Given the description of an element on the screen output the (x, y) to click on. 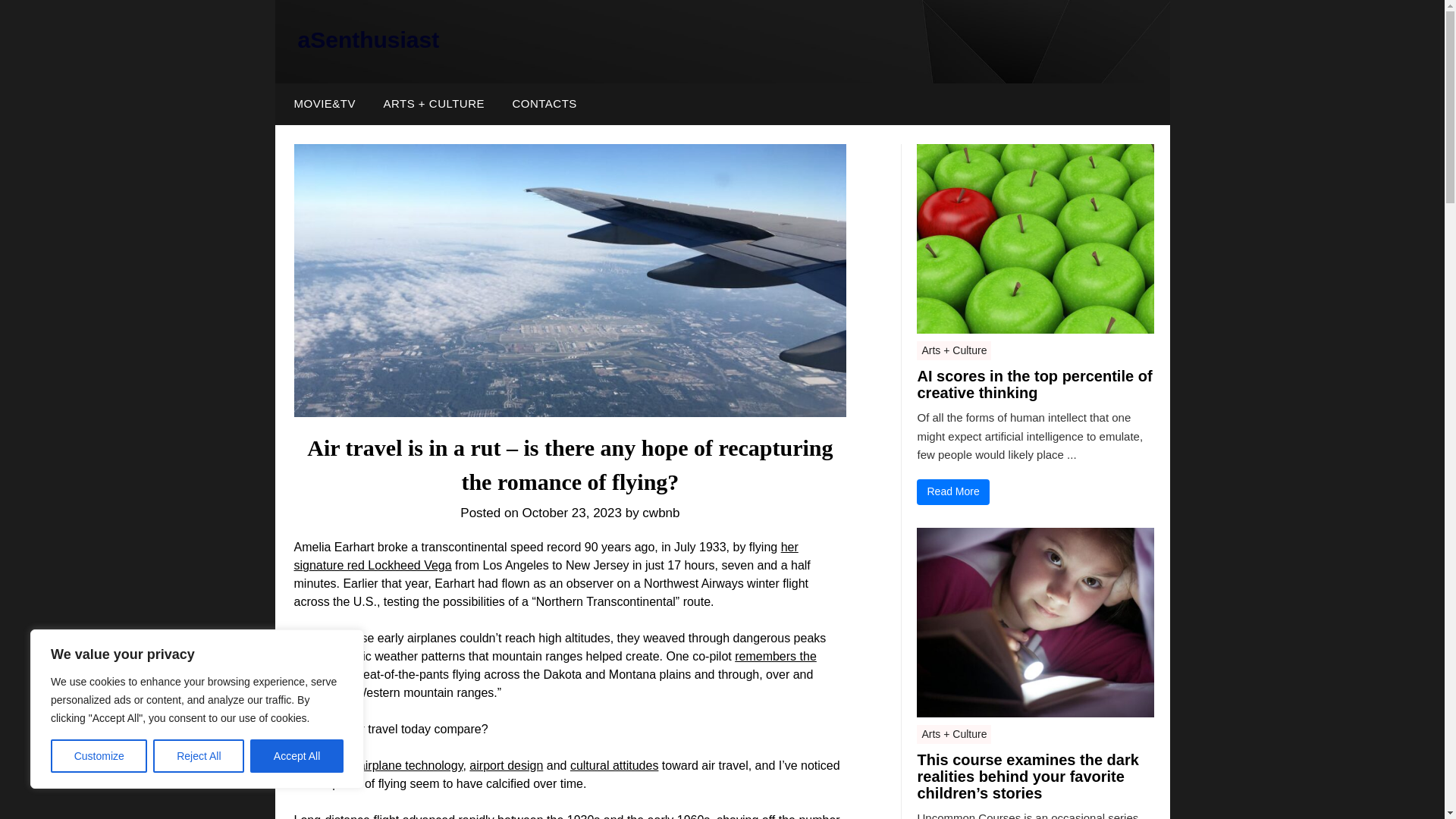
airplane technology (410, 765)
Customize (98, 756)
aSenthusiast (368, 39)
Accept All (296, 756)
airport design (505, 765)
her signature red Lockheed Vega (545, 555)
remembers the journey (555, 665)
October 23, 2023 (571, 513)
cwbnb (660, 513)
cultural attitudes (614, 765)
